Given the description of an element on the screen output the (x, y) to click on. 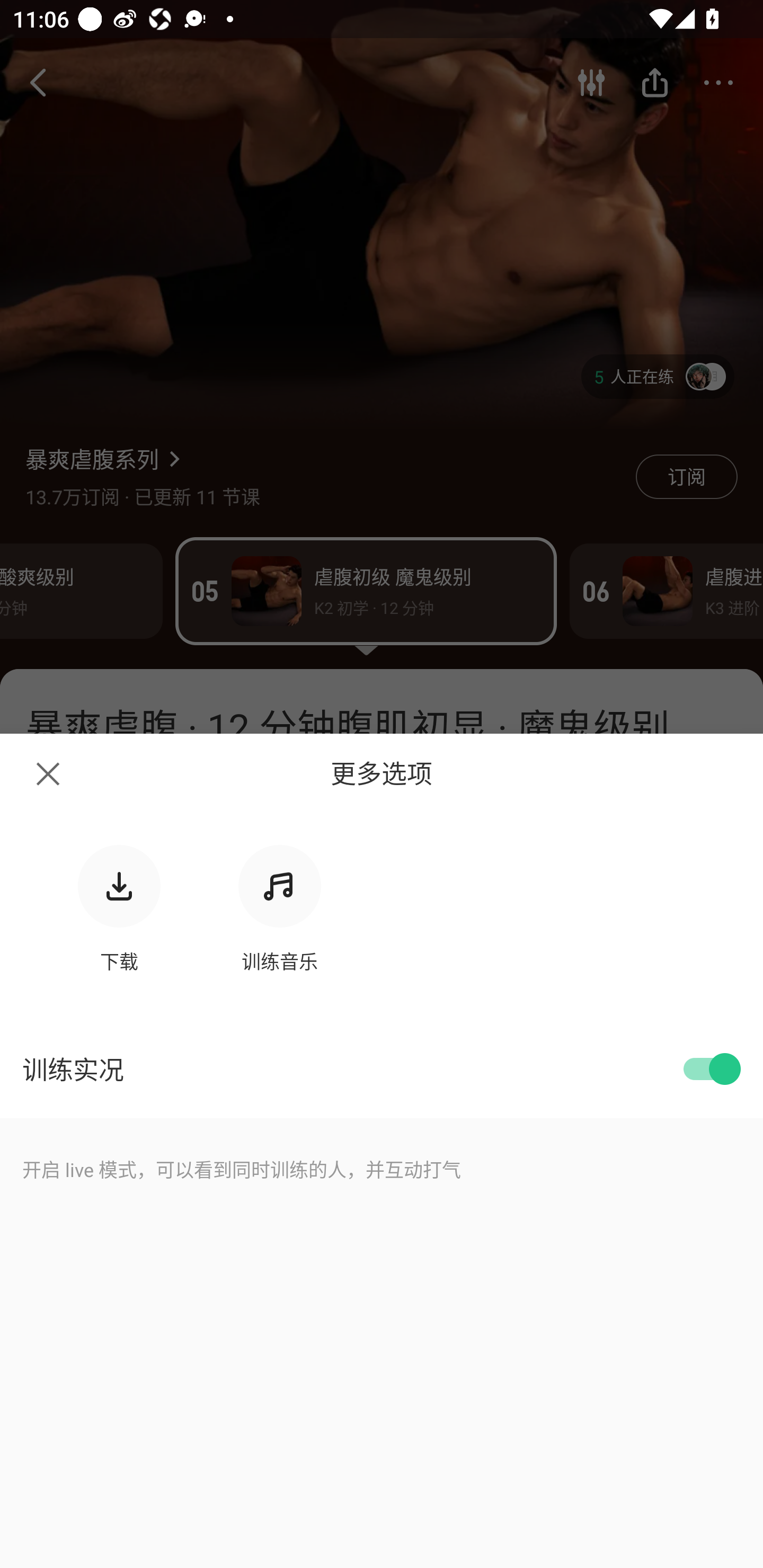
ON (708, 1069)
